Given the description of an element on the screen output the (x, y) to click on. 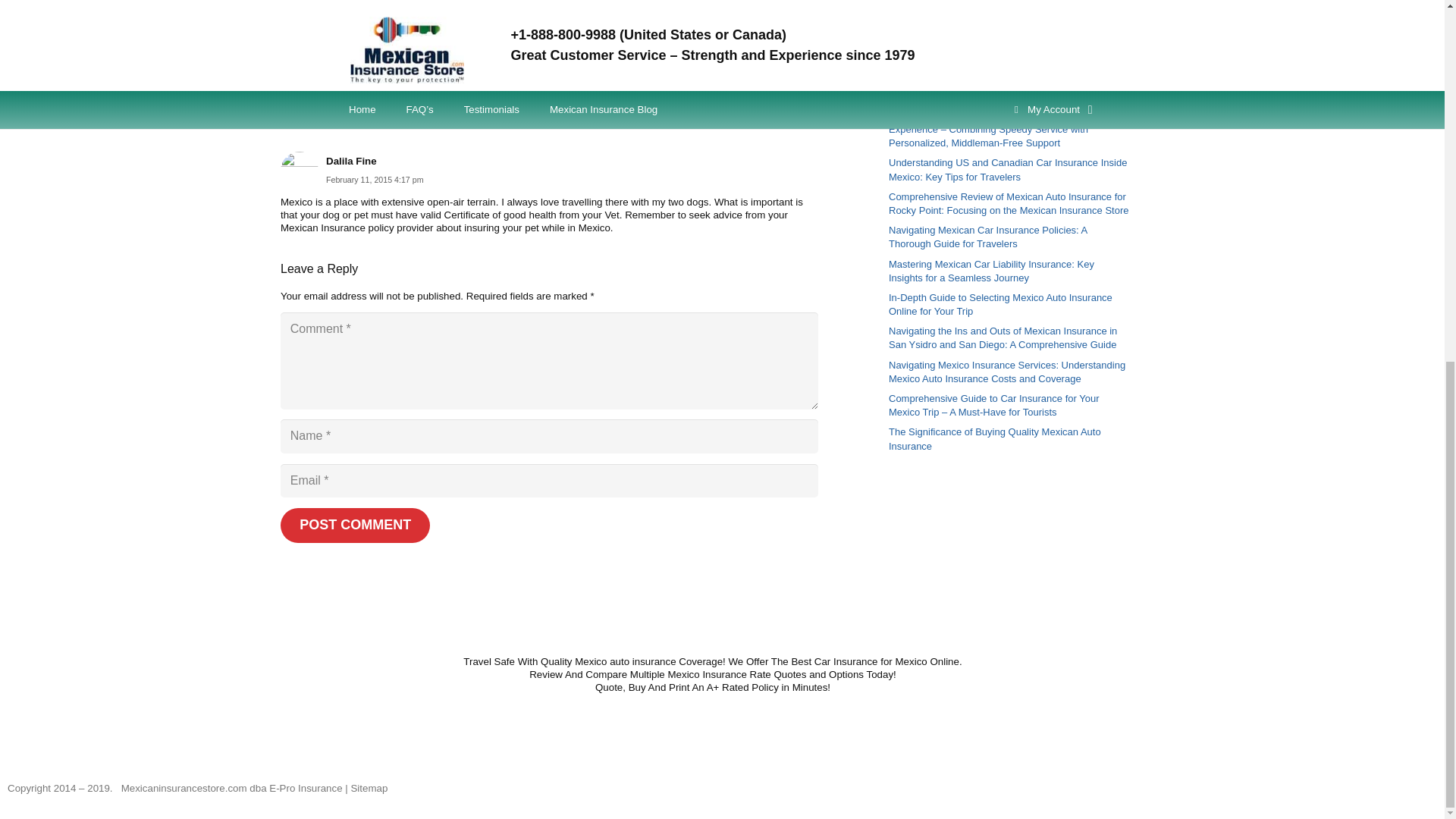
Leave new (379, 120)
Mexican Insurance for Brownsville, Texas Travelers (1000, 61)
Back to top (1413, 205)
February 11, 2015 4:17 pm (374, 179)
Sitemap (368, 787)
February 11, 2015 4:17 pm (374, 179)
Introduction to Mexican Auto Insurance in San Diego (1003, 8)
